Given the description of an element on the screen output the (x, y) to click on. 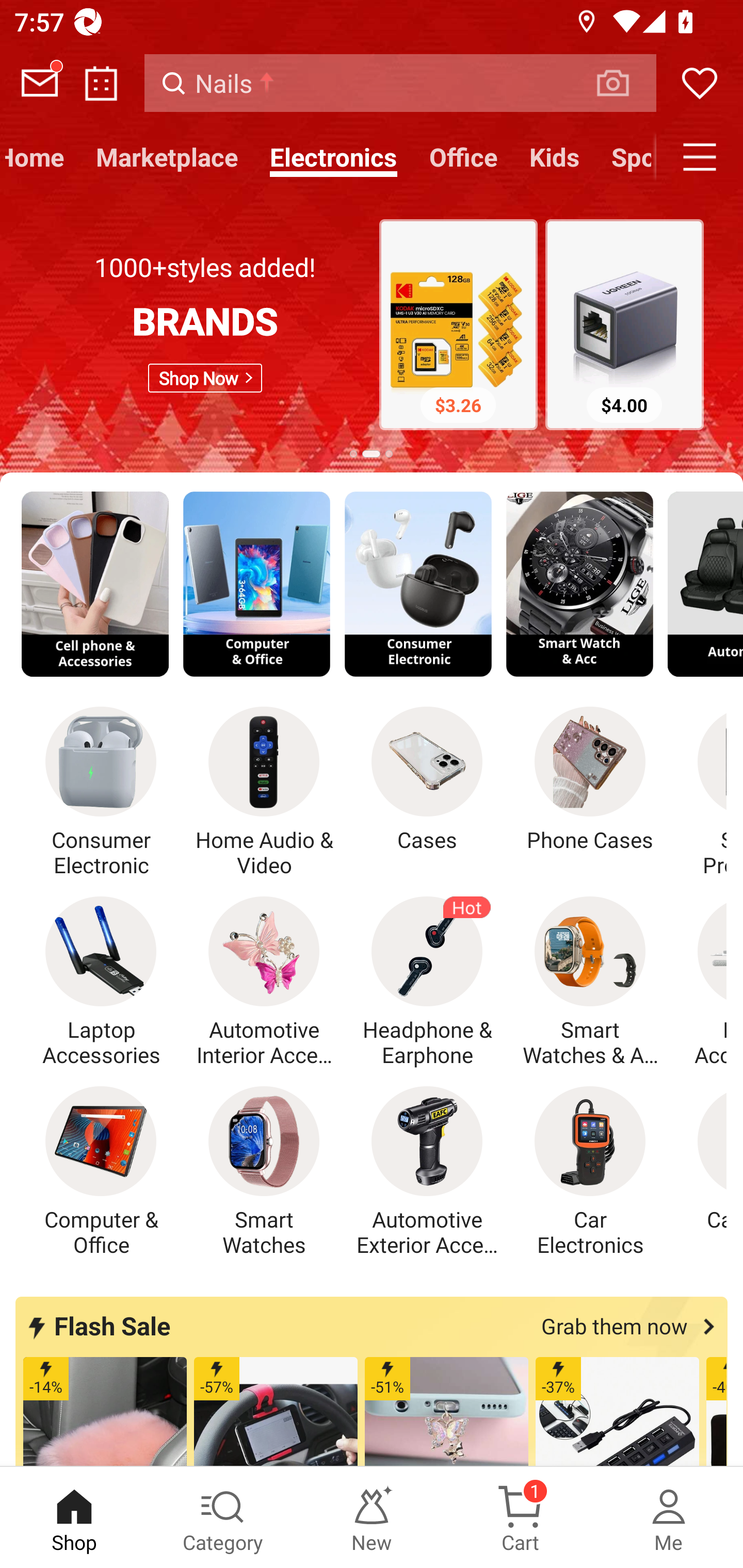
Wishlist (699, 82)
VISUAL SEARCH (623, 82)
Home (40, 156)
Marketplace (167, 156)
Electronics (333, 156)
Office (463, 156)
Kids (554, 156)
Sports (625, 156)
1000+styles added! BRANDS Shop Now $3.26 $4.00 (371, 327)
Category (222, 1517)
New (371, 1517)
Cart 1 Cart (519, 1517)
Me (668, 1517)
